Given the description of an element on the screen output the (x, y) to click on. 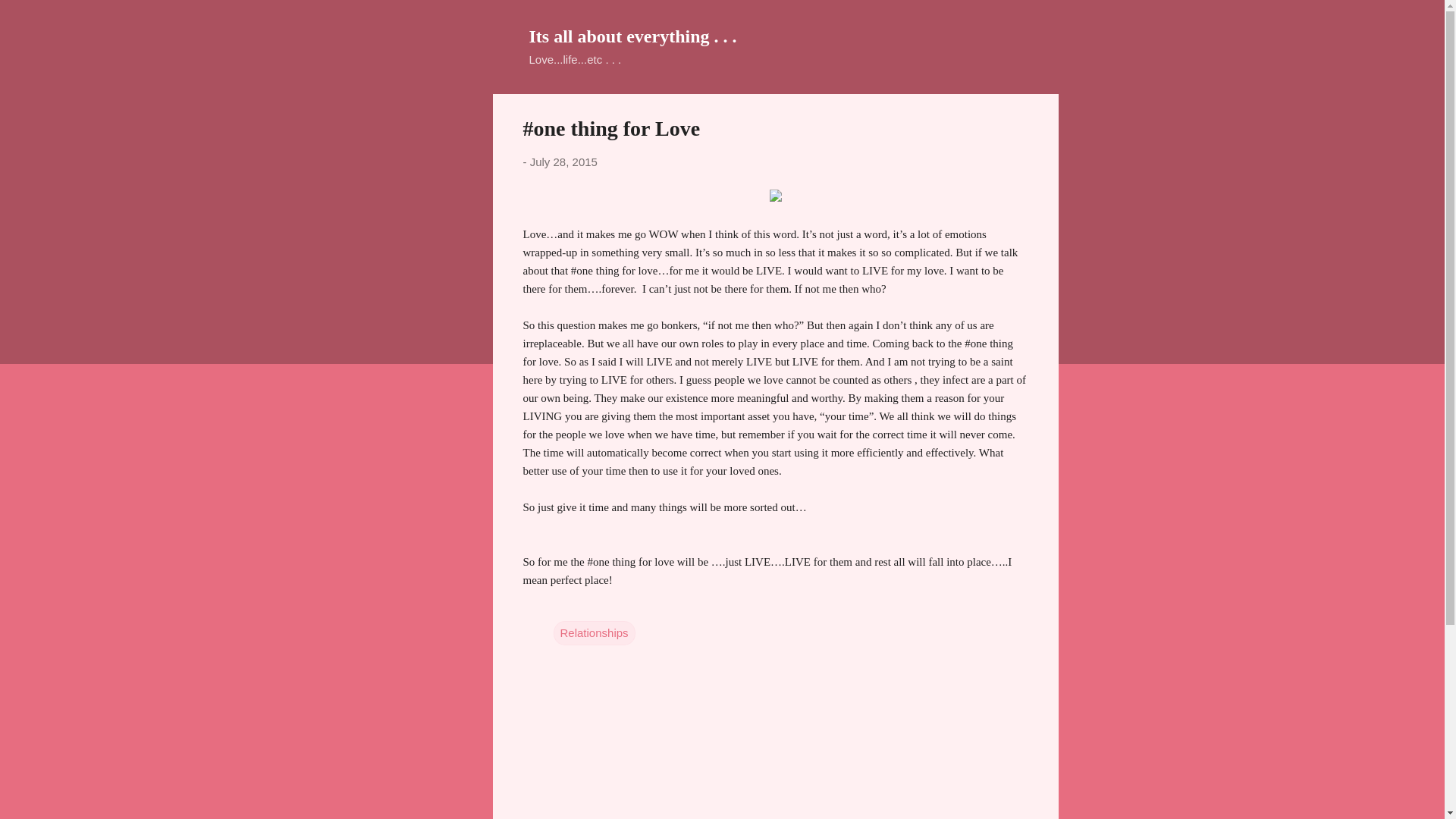
permanent link (562, 161)
July 28, 2015 (562, 161)
Relationships (593, 631)
Its all about everything . . . (632, 35)
Search (29, 18)
